Given the description of an element on the screen output the (x, y) to click on. 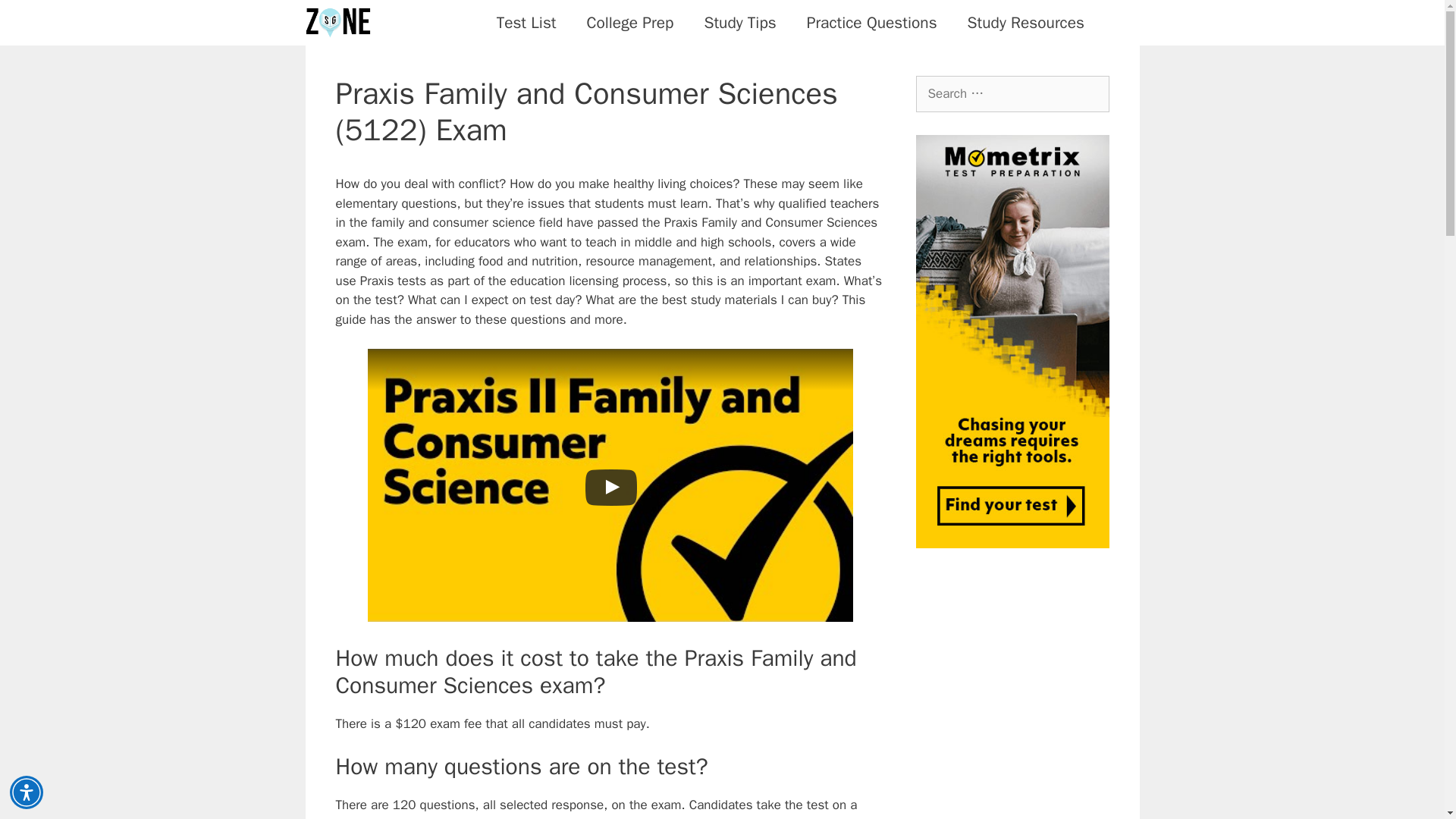
Study Guide Zone (340, 22)
Study Guide Zone (336, 22)
Test List (526, 22)
Practice Questions (872, 22)
Study Tips (739, 22)
Accessibility Menu (26, 792)
Search for: (1012, 94)
College Prep (630, 22)
Study Resources (1025, 22)
Search (35, 18)
